Given the description of an element on the screen output the (x, y) to click on. 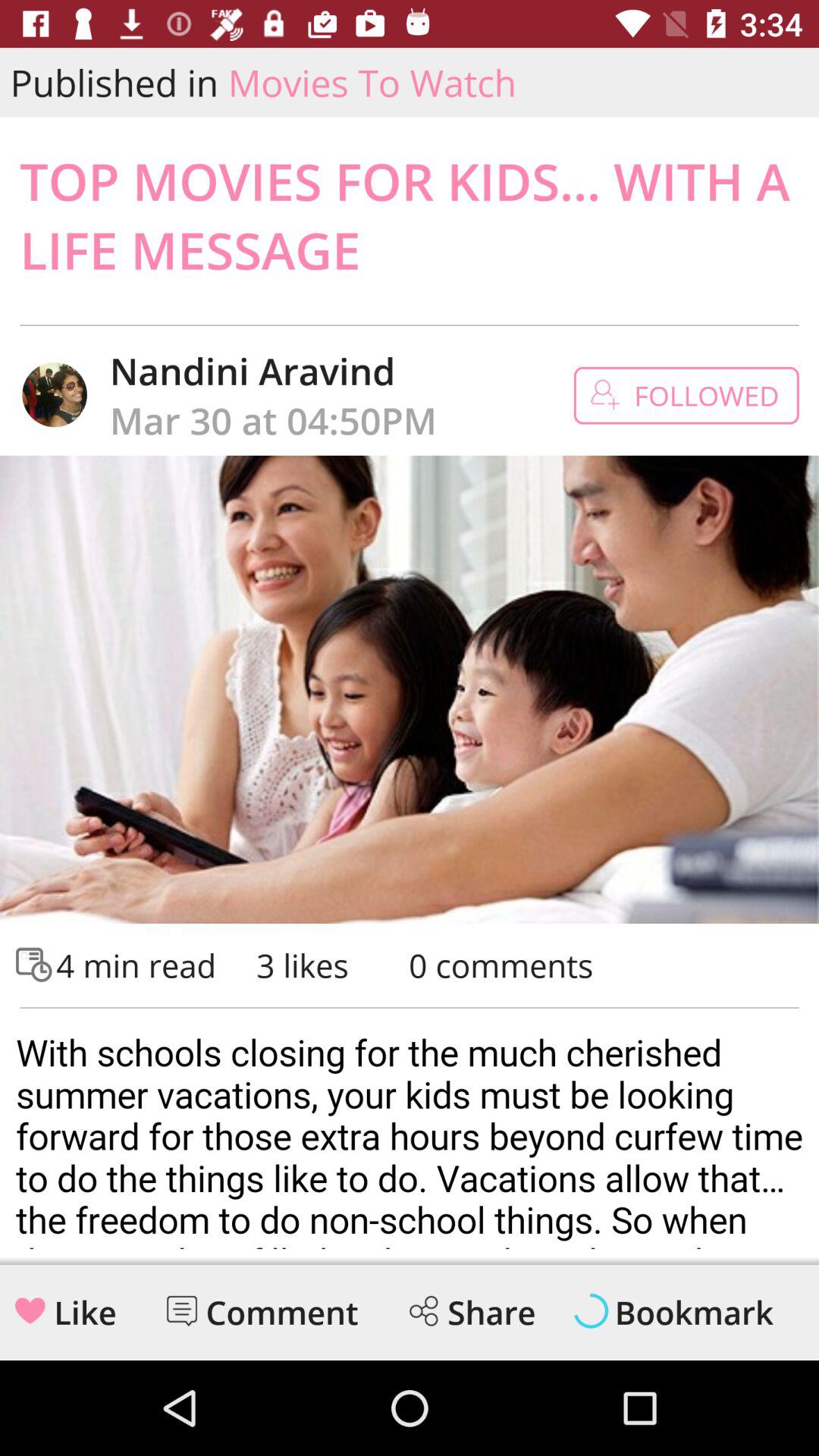
go to comment option (181, 1310)
